Given the description of an element on the screen output the (x, y) to click on. 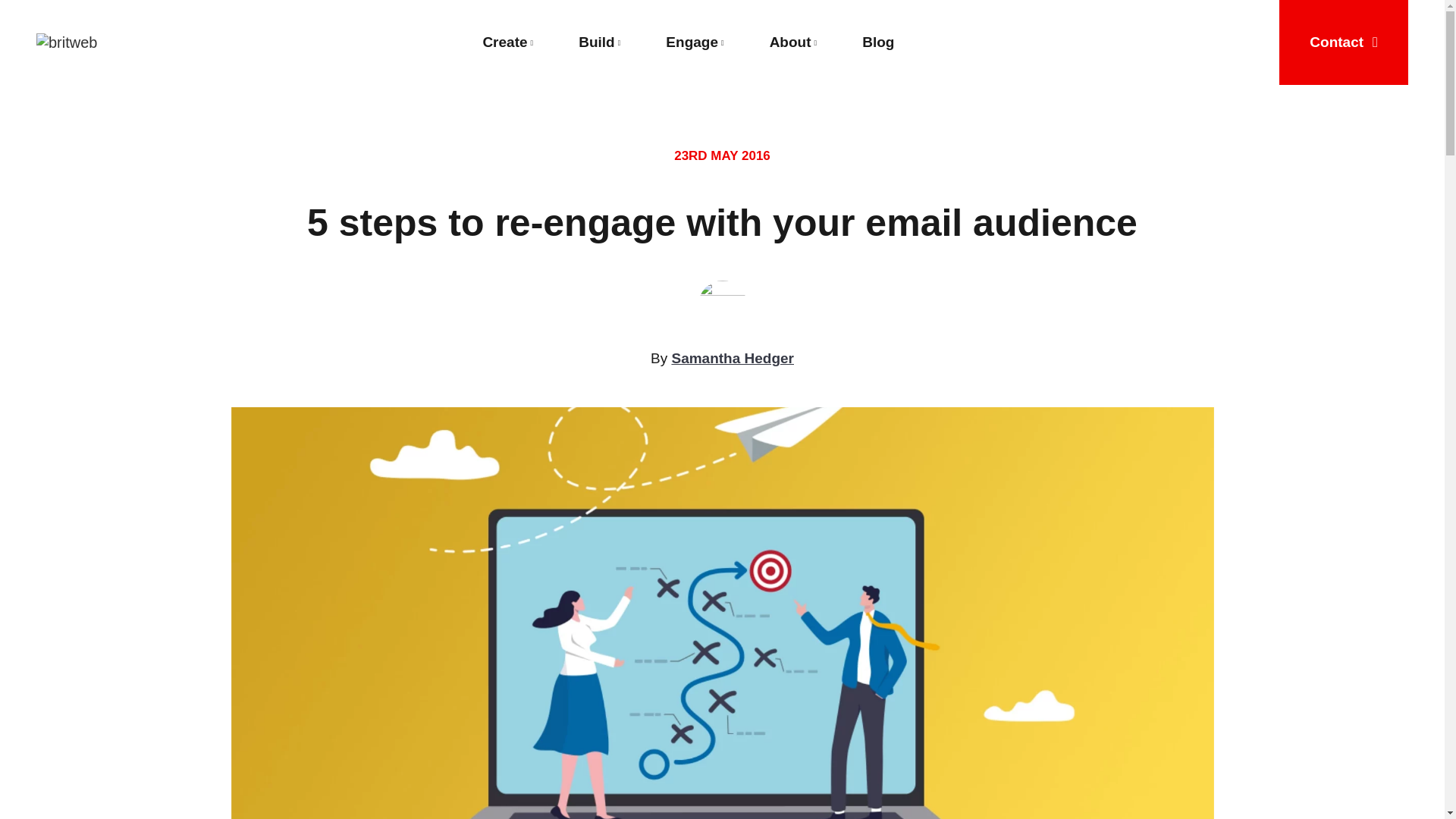
About (793, 42)
Engage (694, 42)
Create (508, 42)
Build (599, 42)
Contact (1343, 42)
Build (599, 42)
Blog (878, 42)
Engage (694, 42)
Create (508, 42)
About (793, 42)
Samantha Hedger (732, 358)
